Given the description of an element on the screen output the (x, y) to click on. 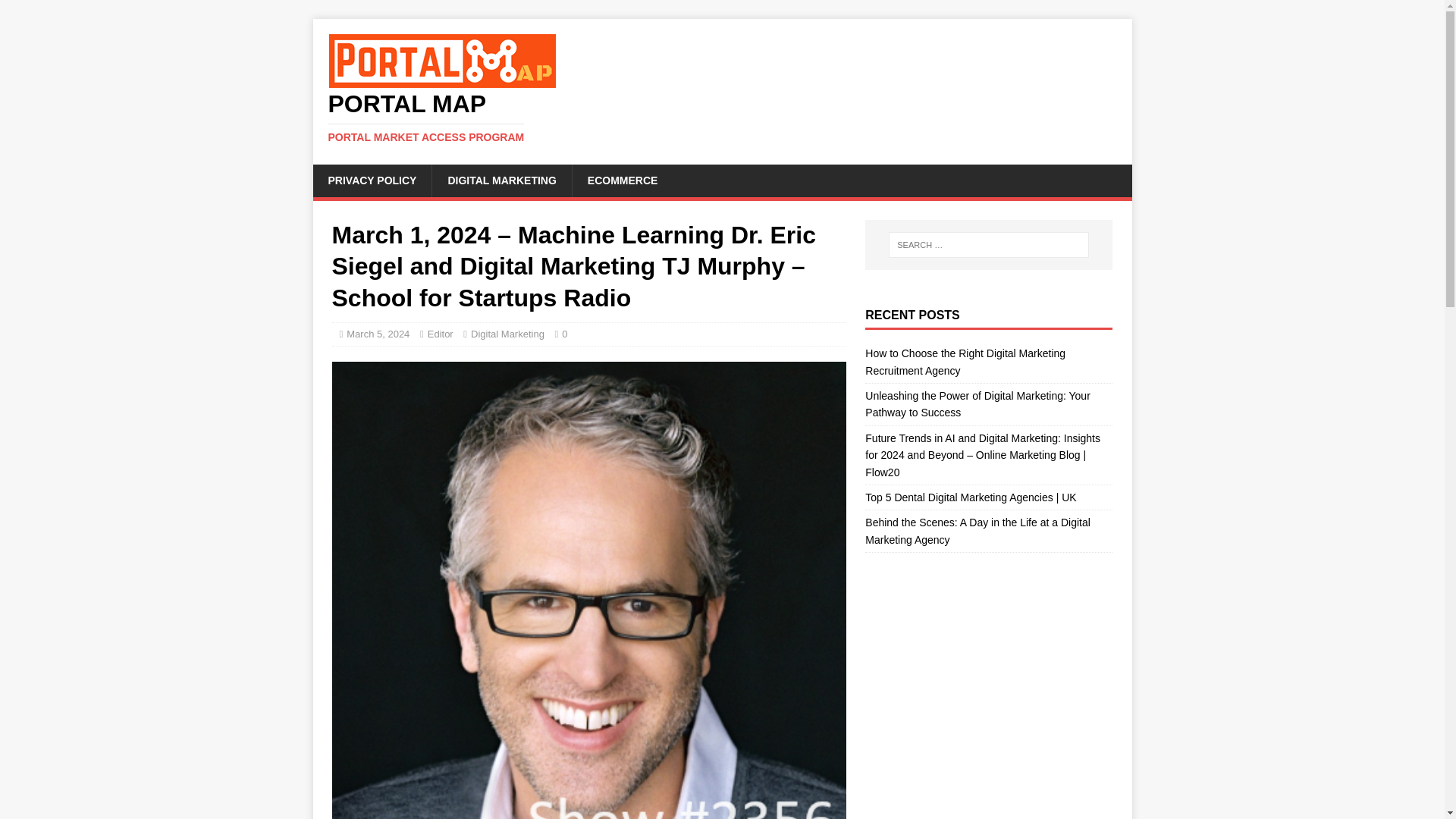
Search (56, 11)
Portal Map (721, 117)
ECOMMERCE (721, 117)
Digital Marketing (622, 180)
Editor (507, 333)
DIGITAL MARKETING (440, 333)
